Given the description of an element on the screen output the (x, y) to click on. 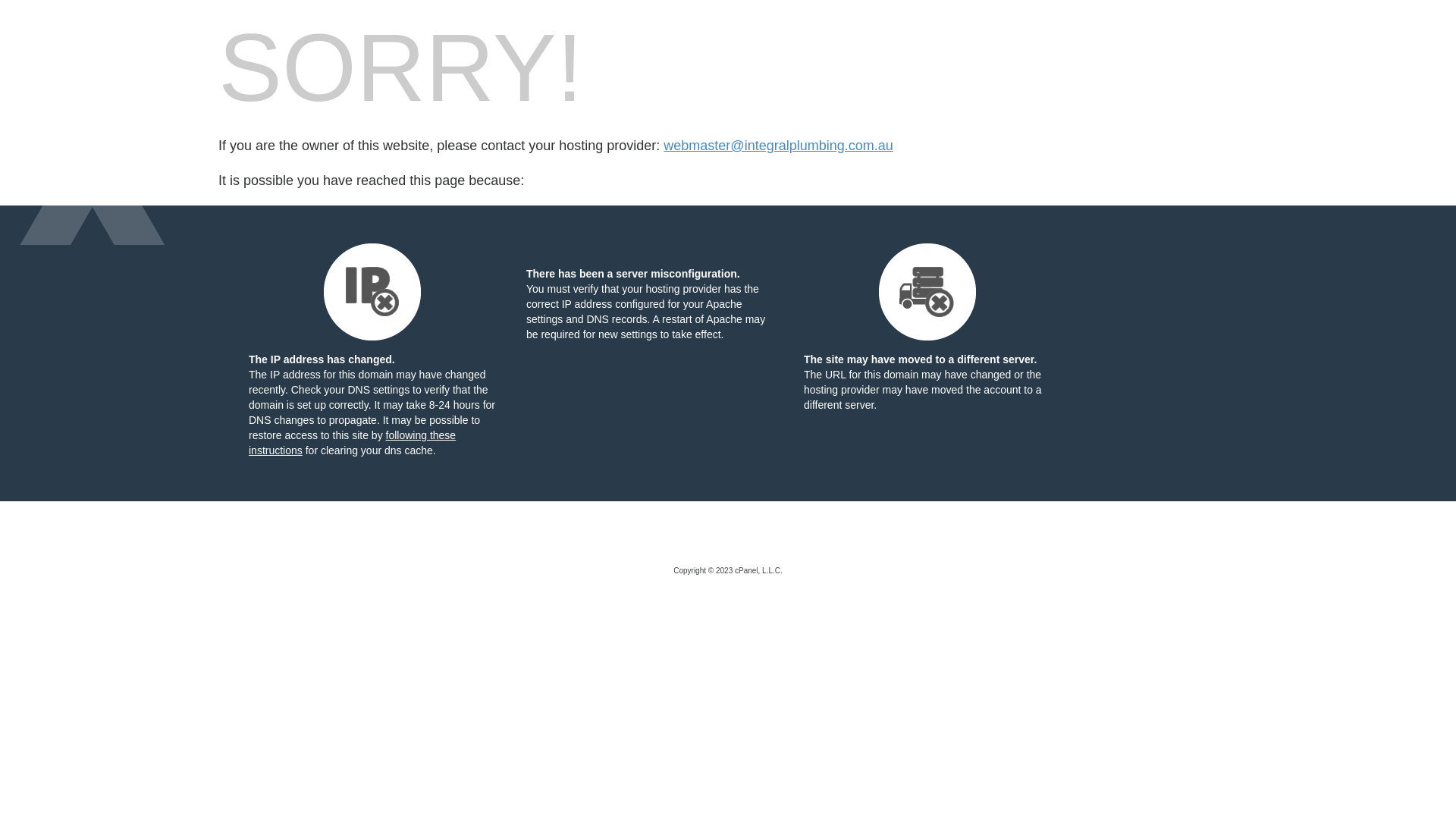
following these instructions Element type: text (351, 442)
webmaster@integralplumbing.com.au Element type: text (777, 145)
